Given the description of an element on the screen output the (x, y) to click on. 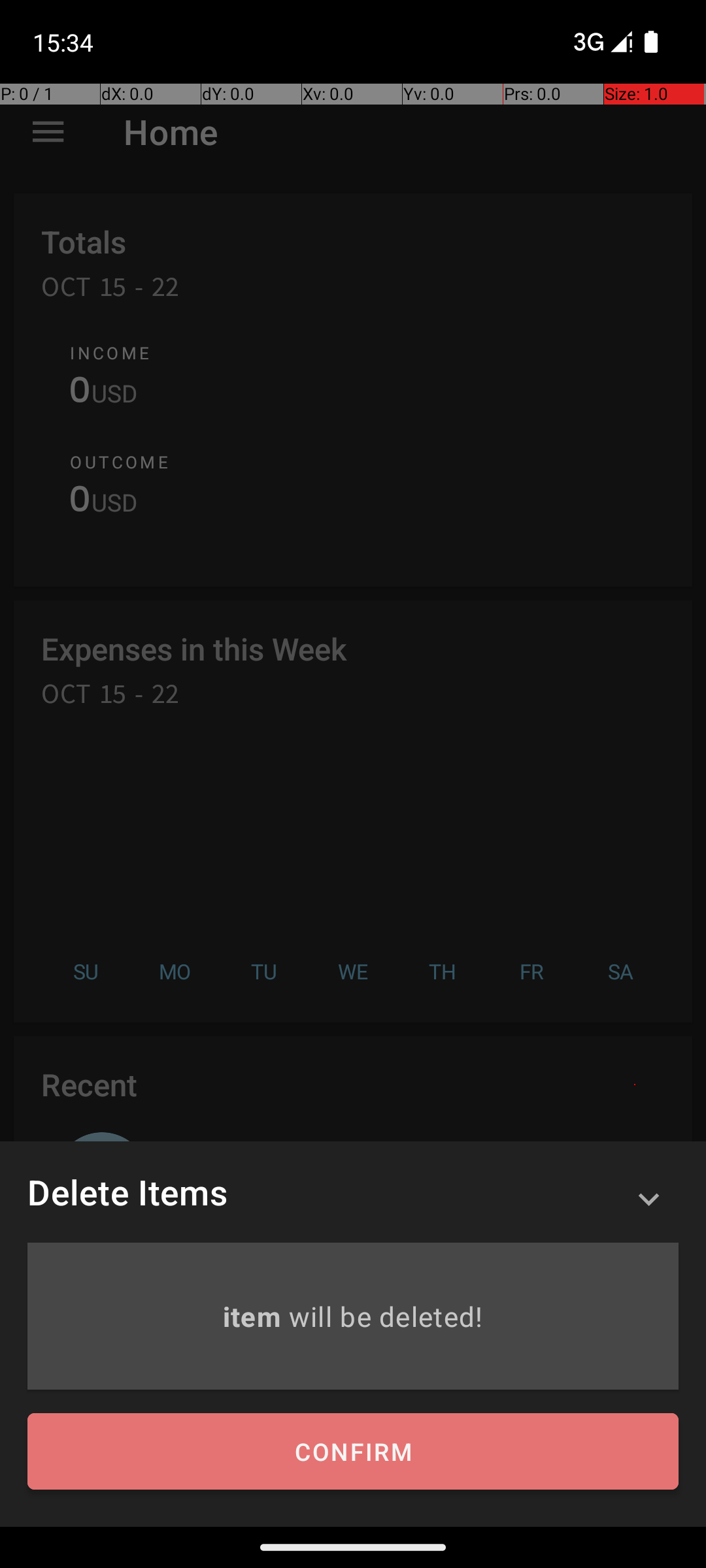
Delete Items Element type: android.widget.TextView (127, 1191)
item  Element type: android.widget.TextView (255, 1315)
will be deleted! Element type: android.widget.TextView (385, 1315)
CONFIRM Element type: android.widget.Button (352, 1451)
